Given the description of an element on the screen output the (x, y) to click on. 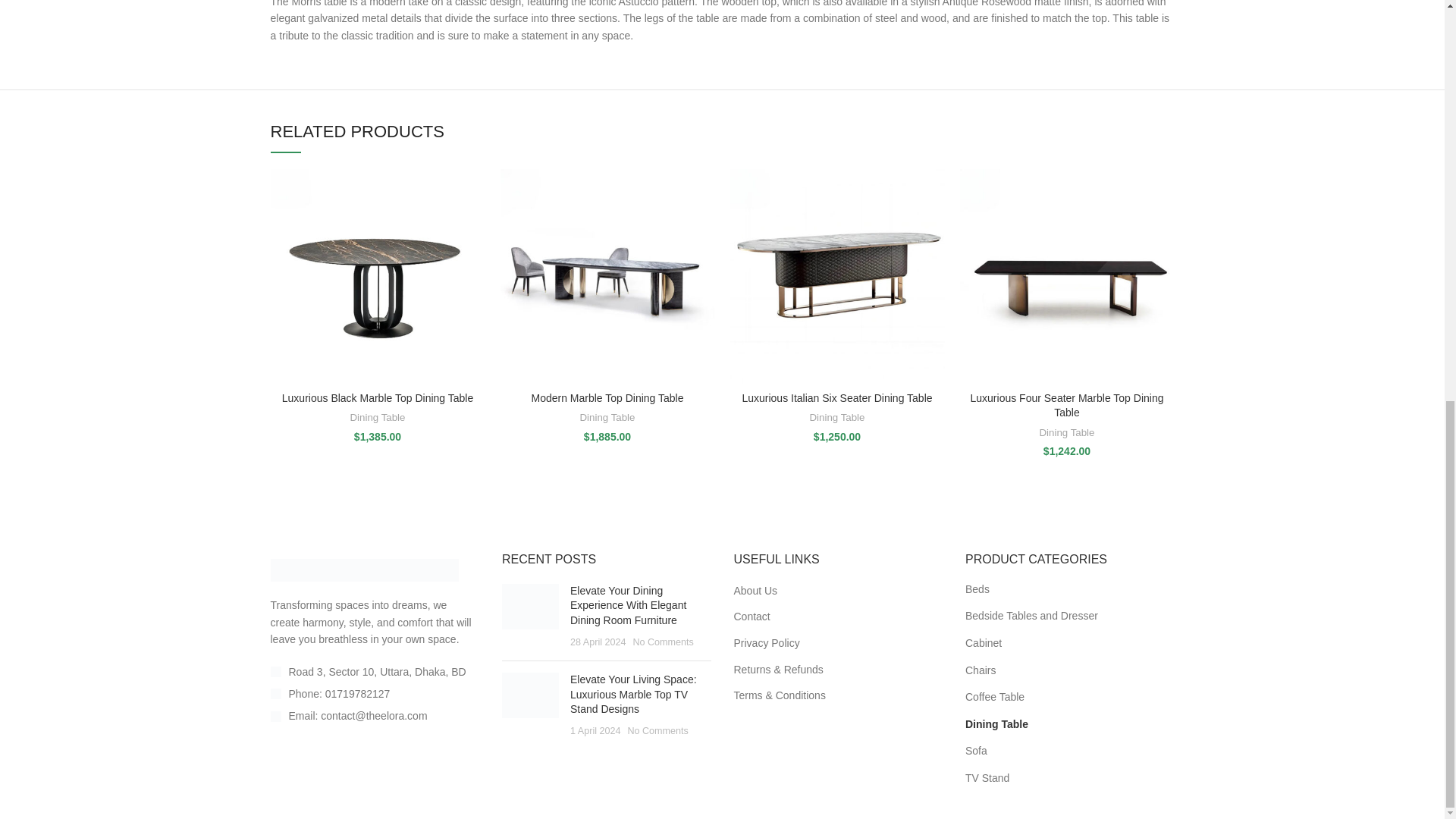
wd-cursor-dark (275, 671)
